Given the description of an element on the screen output the (x, y) to click on. 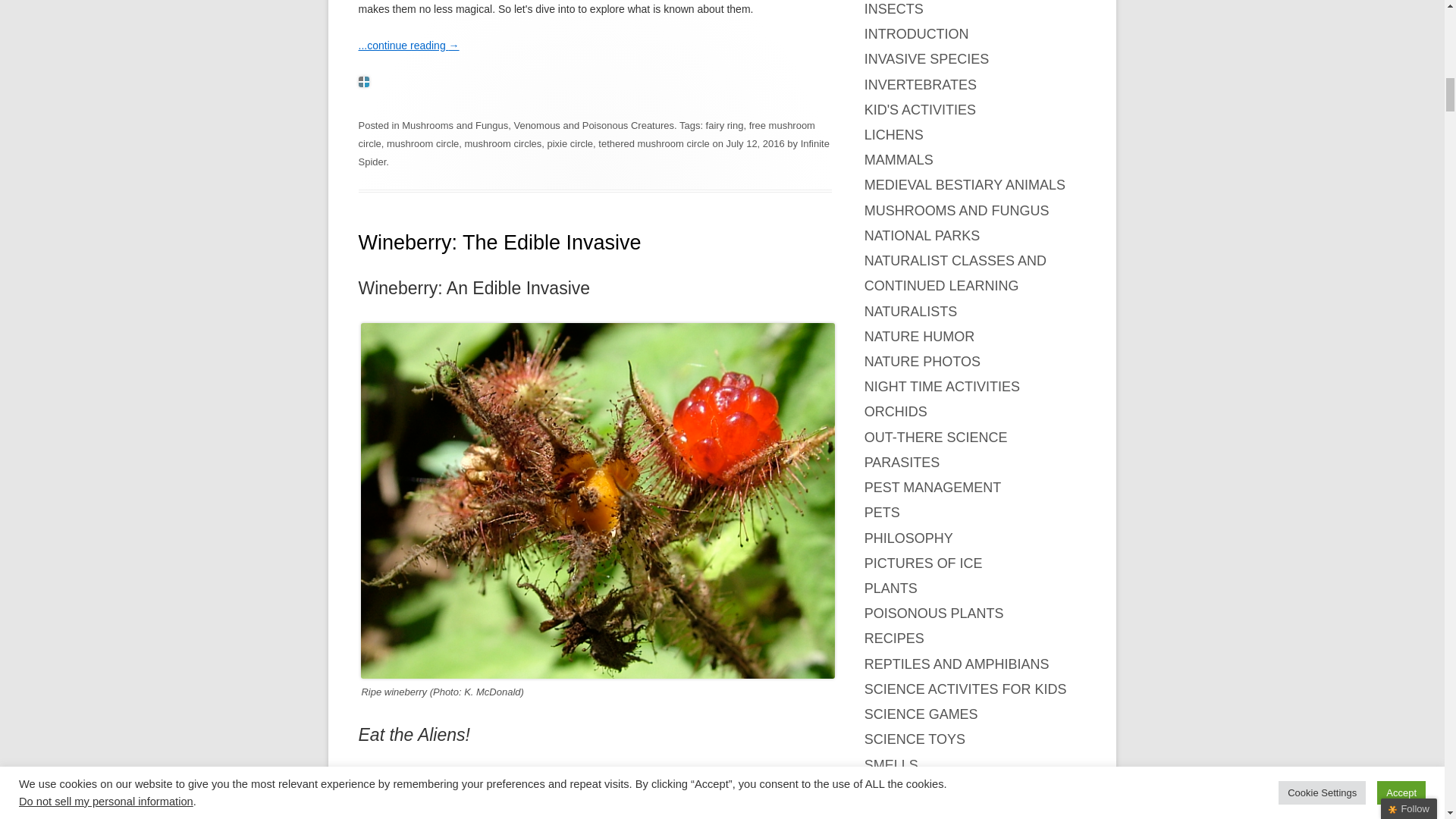
free mushroom circle (585, 134)
pixie circle (569, 143)
July 12, 2016 (754, 143)
Mushrooms and Fungus (454, 125)
tethered mushroom circle (654, 143)
View all posts by Infinite Spider (593, 152)
Infinite Spider (593, 152)
Venomous and Poisonous Creatures (593, 125)
4:53 pm (754, 143)
mushroom circle (422, 143)
